Given the description of an element on the screen output the (x, y) to click on. 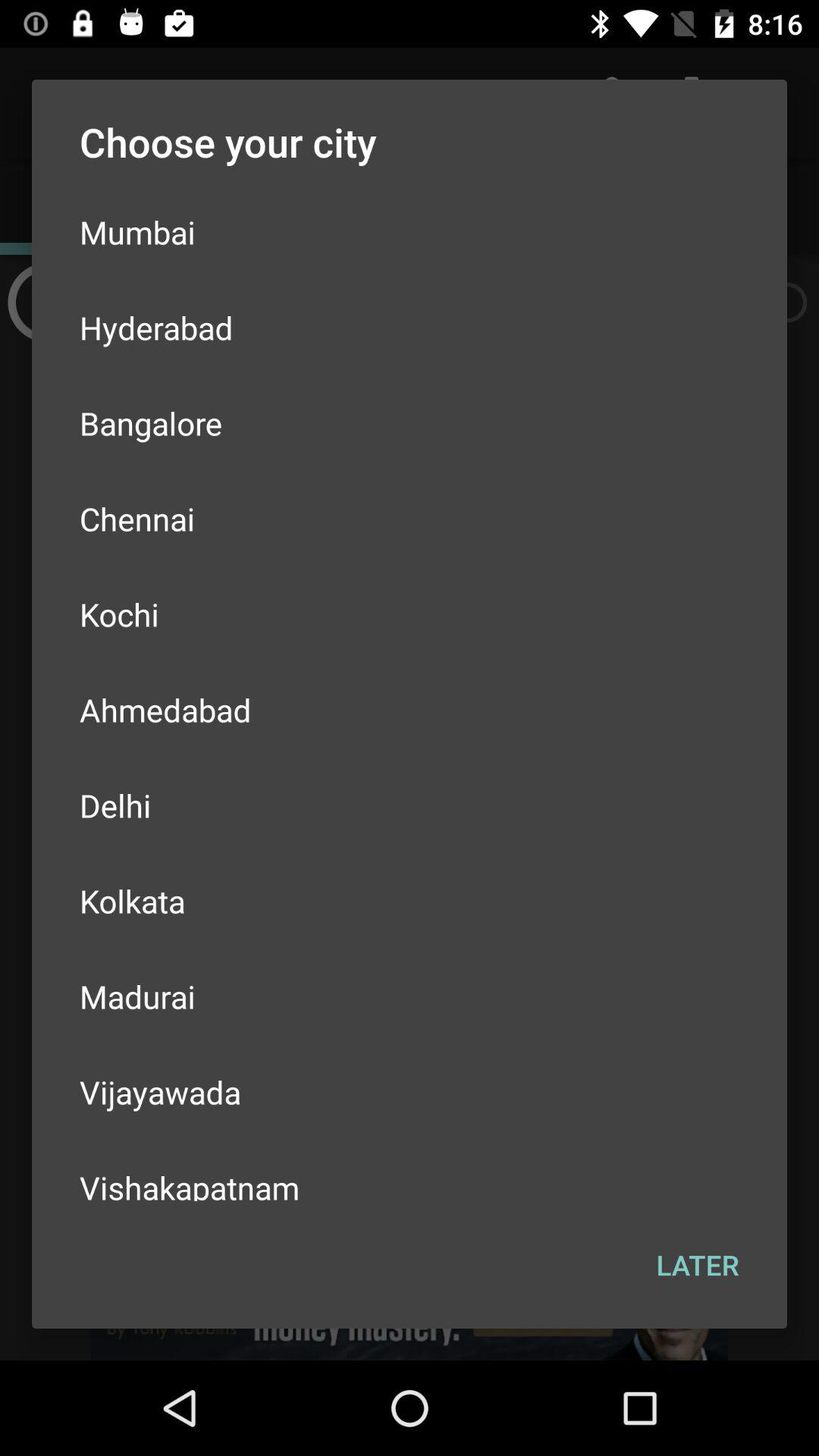
select the icon below the ahmedabad icon (409, 805)
